Given the description of an element on the screen output the (x, y) to click on. 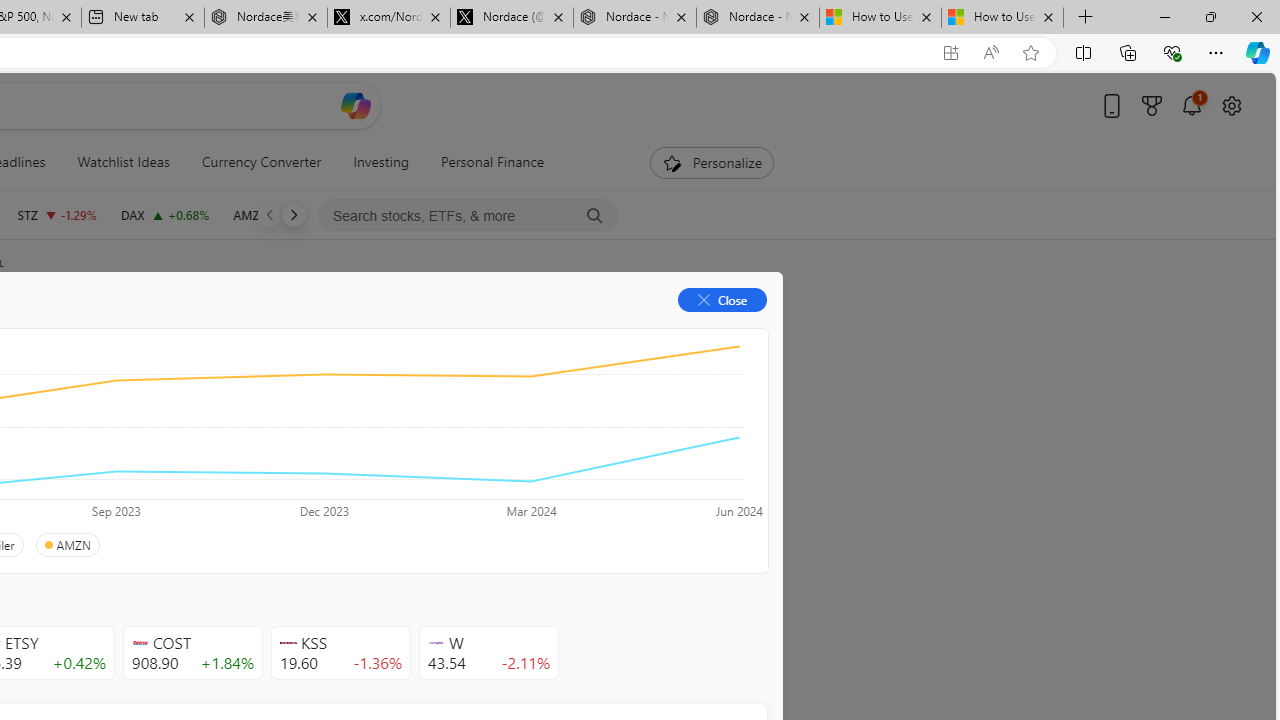
Personal Finance (484, 162)
How to Use a Monitor With Your Closed Laptop (1002, 17)
Nordace (@NordaceOfficial) / X (511, 17)
Earnings (398, 331)
Next (293, 214)
Class: autoSuggestIcon-DS-EntryPoint1-2 (436, 643)
Open settings (1231, 105)
App available. Install Start Money (950, 53)
New Tab (1085, 17)
Personalize (711, 162)
Microsoft rewards (1151, 105)
Financials (209, 331)
Minimize (1164, 16)
Collections (1128, 52)
